Given the description of an element on the screen output the (x, y) to click on. 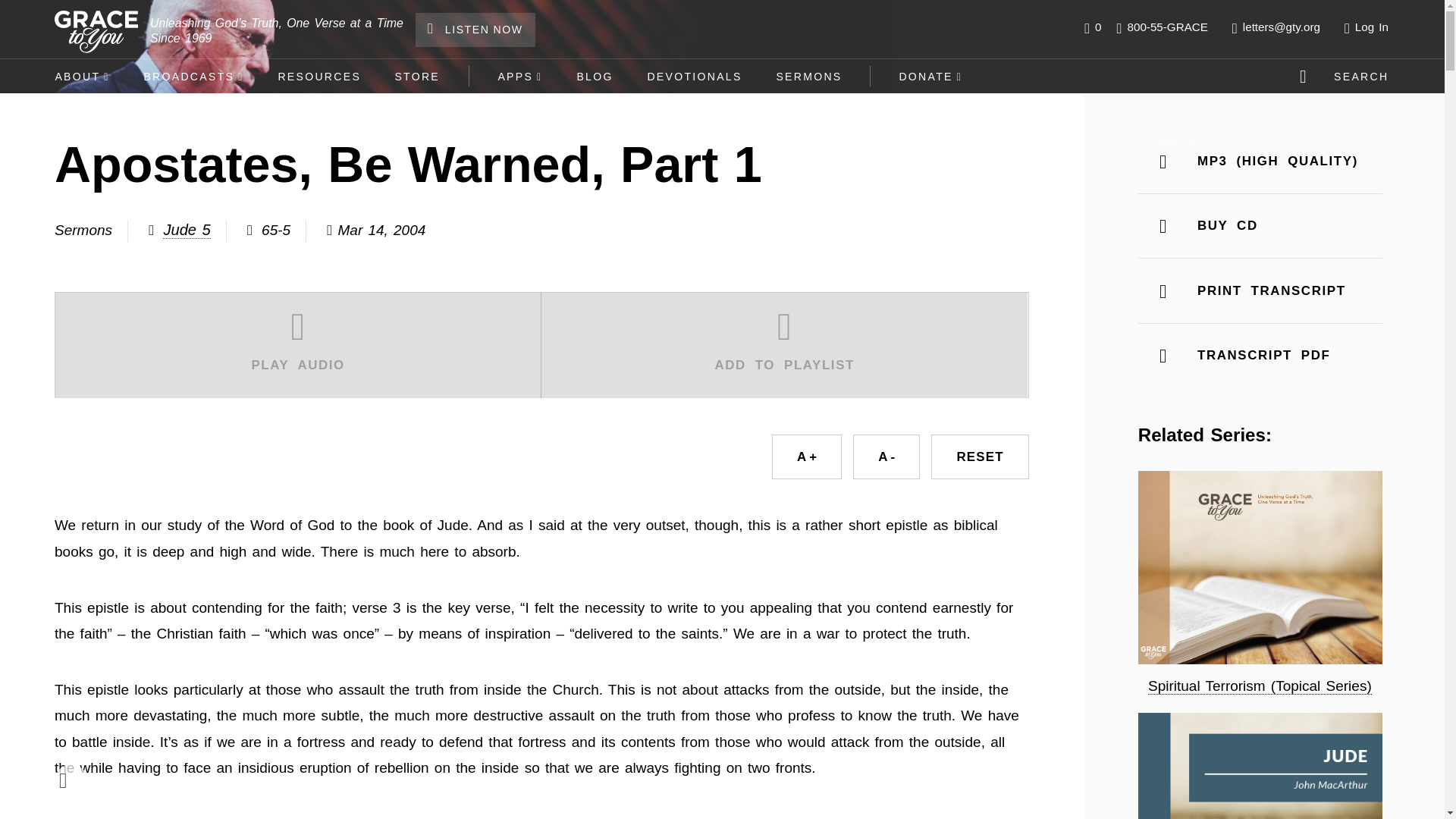
STORE (417, 76)
SEARCH (1347, 76)
800-55-GRACE (1162, 28)
LISTEN NOW (474, 29)
Grace to You (1174, 148)
Jude 5 (186, 230)
SERMONS (808, 76)
RESOURCES (318, 76)
Grace-to-You (96, 32)
Grace-to-You (96, 31)
DONATE (930, 76)
DEVOTIONALS (694, 76)
BLOG (594, 76)
0 (1092, 28)
APPS (519, 76)
